Given the description of an element on the screen output the (x, y) to click on. 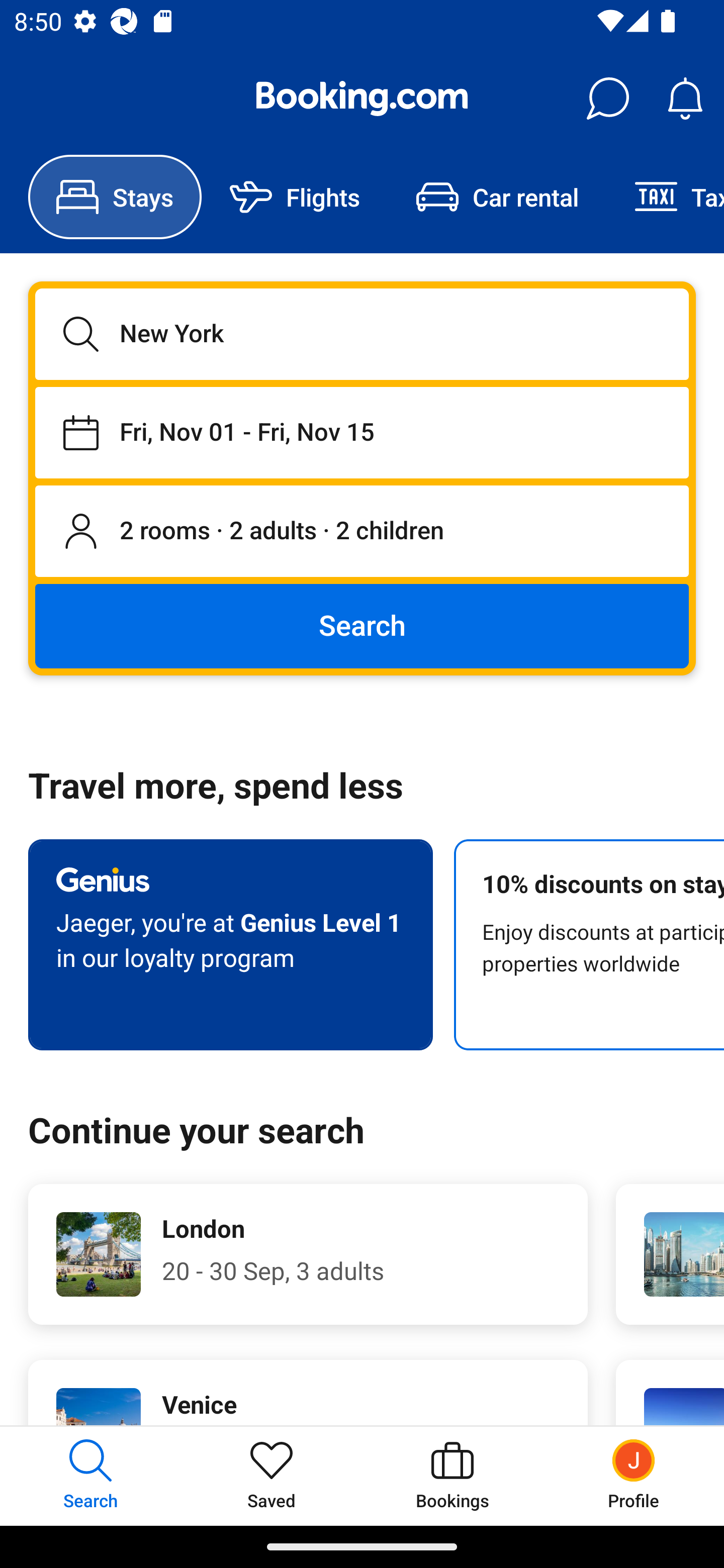
Messages (607, 98)
Notifications (685, 98)
Stays (114, 197)
Flights (294, 197)
Car rental (497, 197)
Taxi (665, 197)
New York (361, 333)
Staying from Fri, Nov 01 until Fri, Nov 15 (361, 432)
2 rooms, 2 adults, 2 children (361, 531)
Search (361, 625)
London 20 - 30 Sep, 3 adults (307, 1253)
Saved (271, 1475)
Bookings (452, 1475)
Profile (633, 1475)
